Given the description of an element on the screen output the (x, y) to click on. 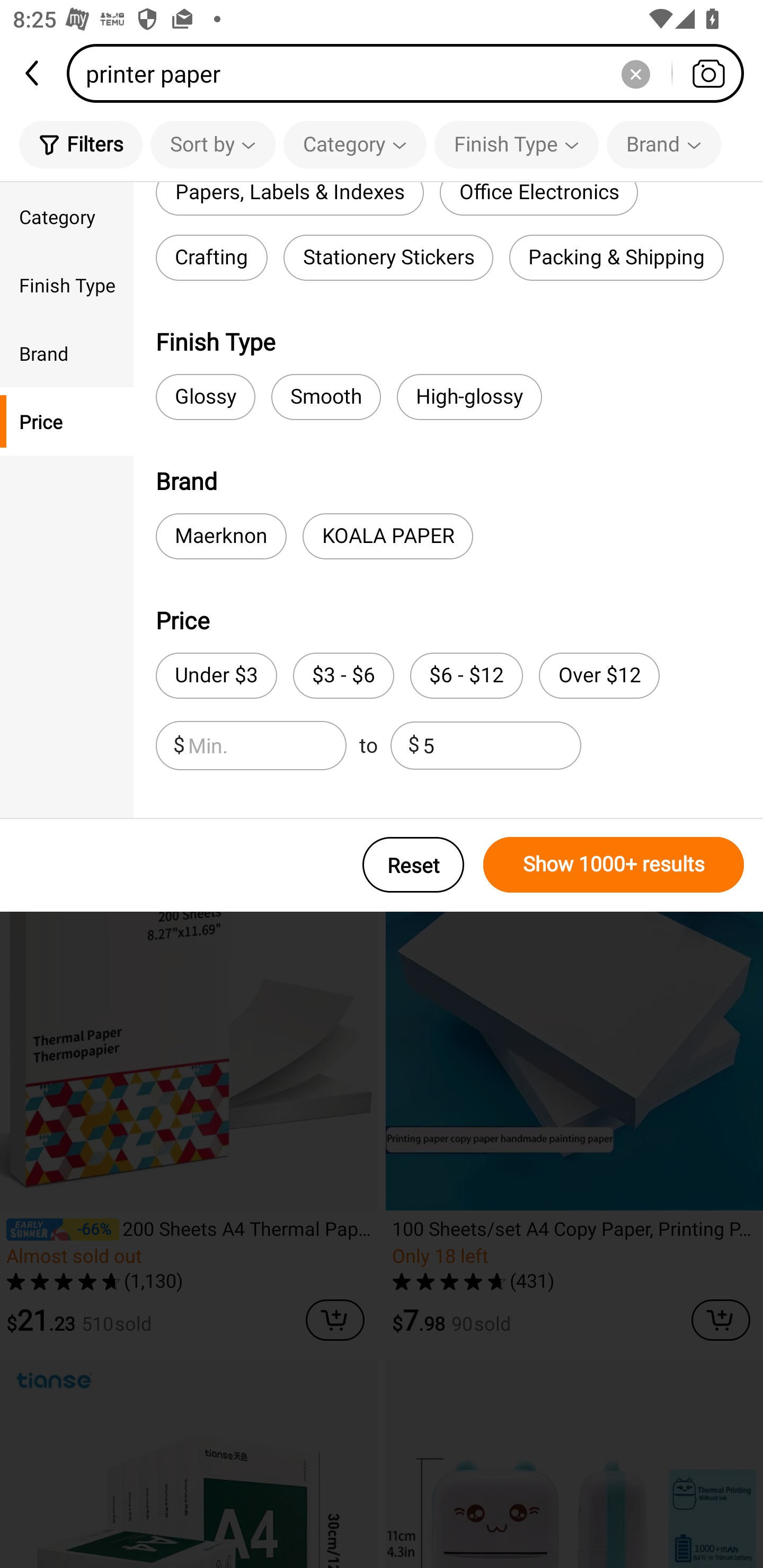
back (33, 72)
printer paper (411, 73)
Delete search history (635, 73)
Search by photo (708, 73)
Filters (80, 143)
Sort by (212, 143)
Category (354, 143)
Finish Type (516, 143)
Brand (663, 143)
Category (66, 215)
Papers, Labels & Indexes (289, 198)
Office Electronics (538, 198)
Crafting (211, 257)
Stationery Stickers (388, 257)
Packing & Shipping (616, 257)
Finish Type (66, 284)
Brand (66, 352)
Glossy (205, 397)
Smooth (325, 397)
High-glossy (468, 397)
Price (66, 421)
Maerknon (220, 535)
KOALA PAPER (387, 535)
Under $3 (215, 675)
$3 - $6 (343, 675)
$6 - $12 (466, 675)
Over $12 (598, 675)
$ Min. to $ 5 (368, 745)
Reset (412, 864)
Show 1000+ results (612, 864)
